Given the description of an element on the screen output the (x, y) to click on. 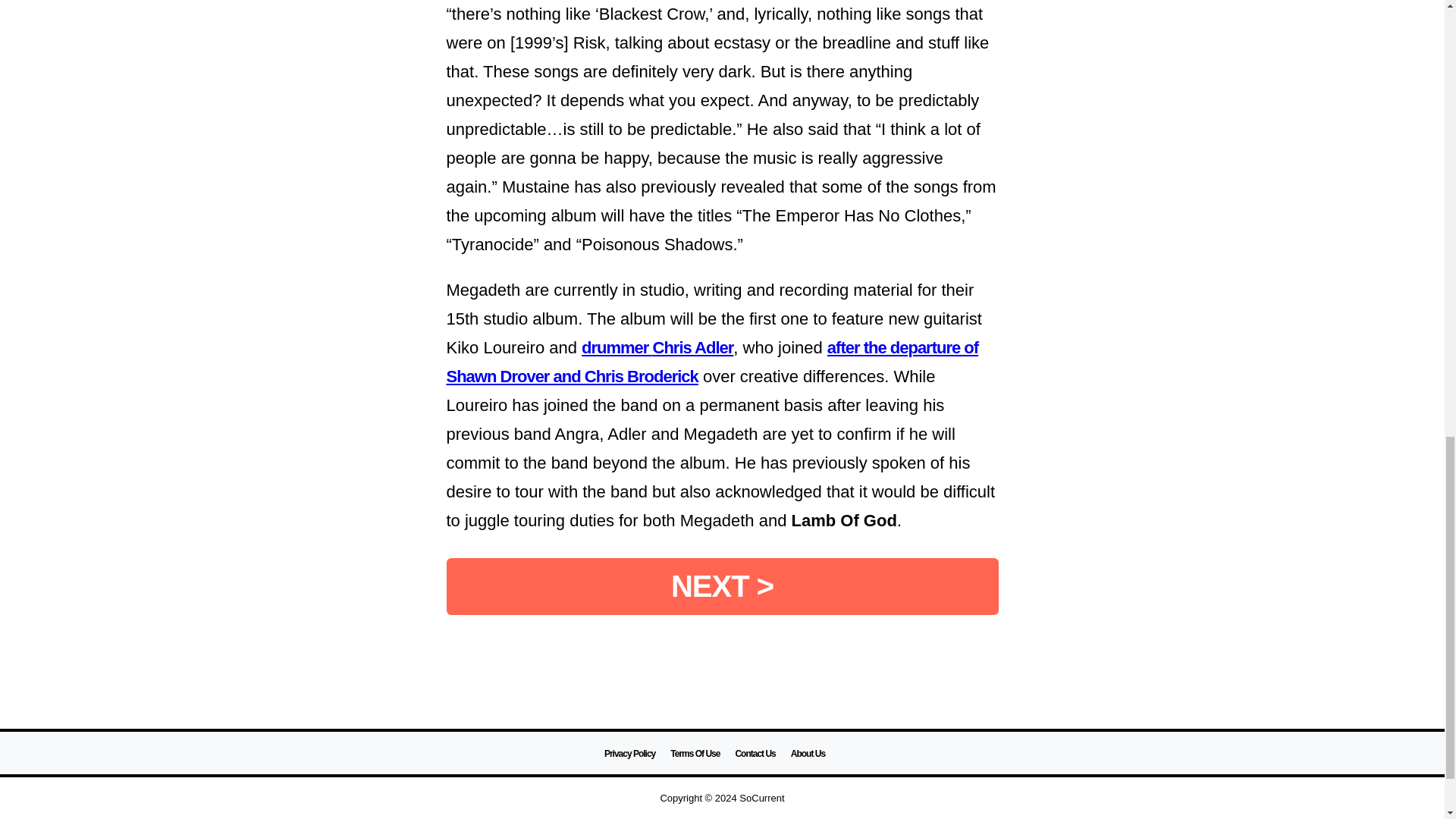
About Us (807, 753)
drummer Chris Adler (656, 347)
Contact Us (754, 753)
Privacy Policy (629, 753)
Terms Of Use (694, 753)
after the departure of Shawn Drover and Chris Broderick (711, 361)
